Given the description of an element on the screen output the (x, y) to click on. 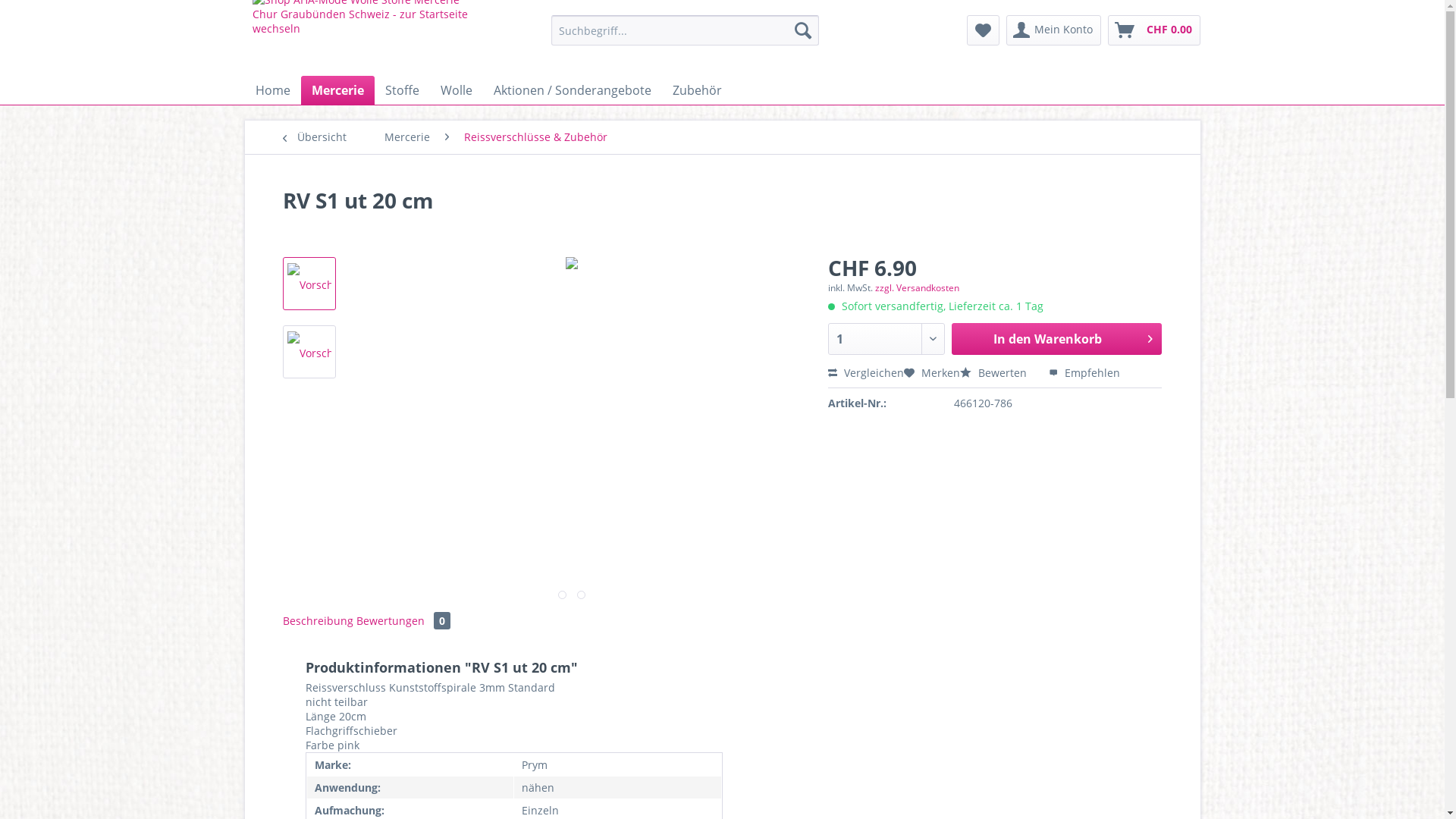
Bewertungen 0 Element type: text (403, 620)
Bewerten Element type: text (994, 372)
  Element type: text (581, 594)
zzgl. Versandkosten Element type: text (917, 287)
Wolle Element type: text (455, 89)
CHF 0.00 Element type: text (1153, 30)
Empfehlen Element type: text (1084, 372)
Vorschau: article 466120-786 Element type: hover (308, 351)
Merkzettel Element type: hover (982, 30)
Vorschau: article 466120-786 Element type: hover (308, 352)
Merken Element type: text (931, 372)
Mercerie Element type: text (336, 89)
Beschreibung Element type: text (317, 620)
Vorschau: article 466120-786 Element type: hover (308, 283)
Vergleichen Element type: text (865, 372)
  Element type: text (562, 594)
Mercerie Element type: text (406, 136)
Vorschau: article 466120-786 Element type: hover (308, 284)
Aktionen / Sonderangebote Element type: text (571, 89)
Stoffe Element type: text (401, 89)
In den Warenkorb Element type: text (1056, 338)
Home Element type: text (272, 89)
Mein Konto Element type: text (1052, 30)
